Given the description of an element on the screen output the (x, y) to click on. 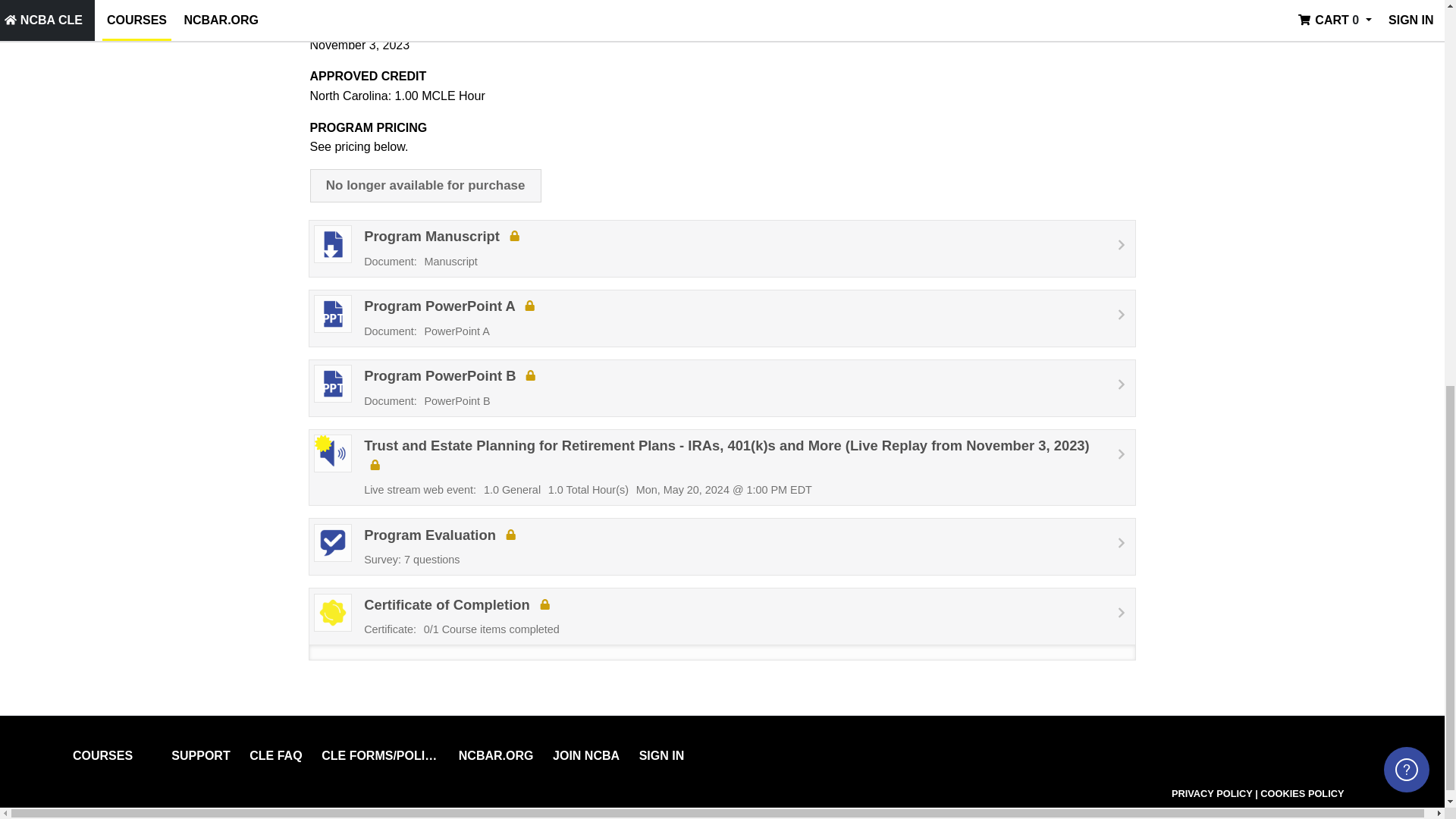
Certificate of Completion (722, 624)
PRIVACY POLICY (1213, 793)
Join NCBA (586, 755)
COOKIES POLICY (722, 248)
SIGN IN (1301, 793)
Program PowerPoint A (722, 387)
